Given the description of an element on the screen output the (x, y) to click on. 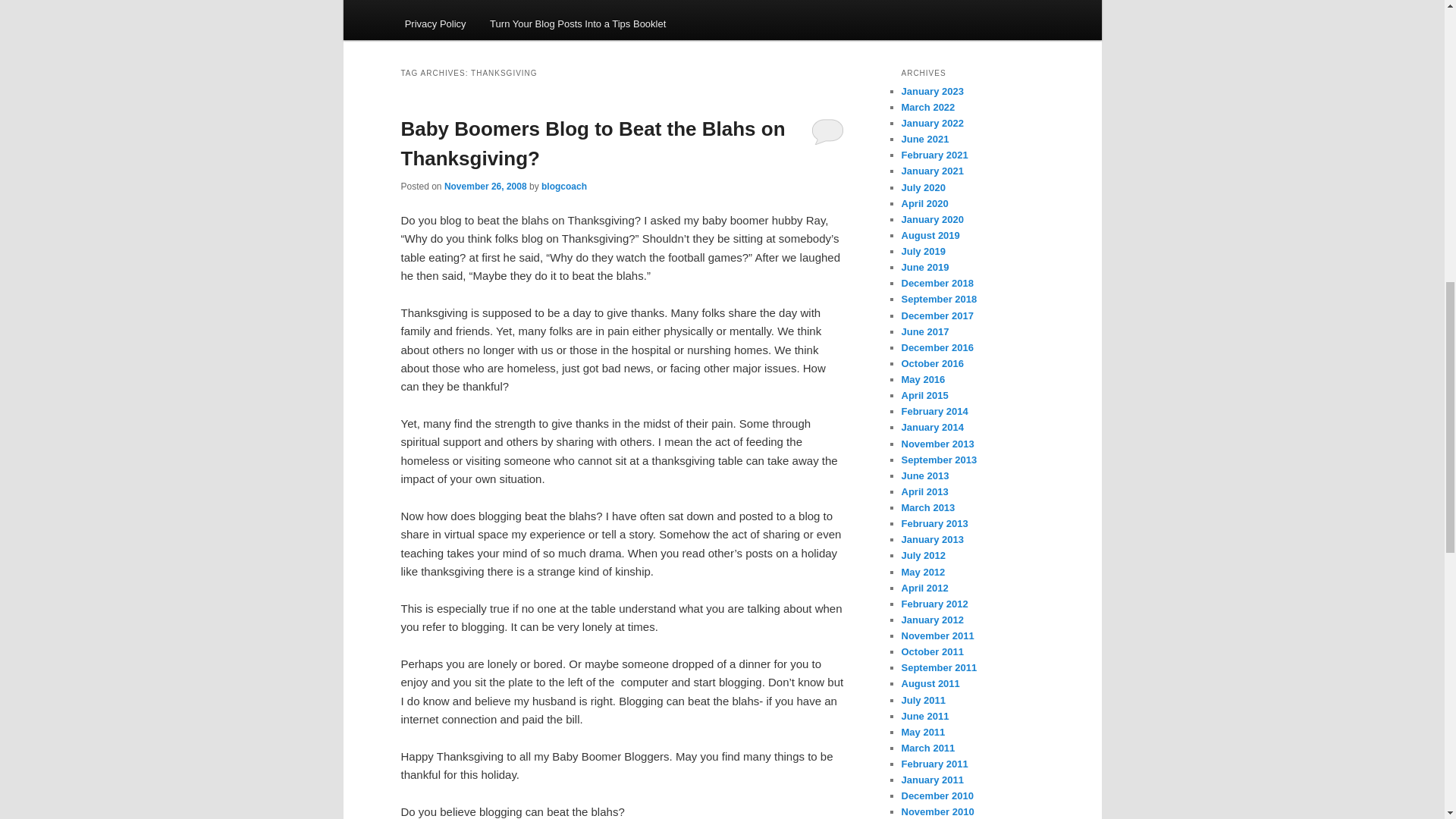
View all posts by blogcoach (563, 185)
November 26, 2008 (485, 185)
December 2018 (936, 283)
Buy Boomer Stuff (692, 3)
Boomer Blogging Resources (567, 3)
January 2021 (931, 170)
June 2017 (925, 331)
December 2017 (936, 315)
January 2023 (931, 91)
blogcoach (563, 185)
December 2016 (936, 347)
March 2022 (928, 107)
January 2022 (931, 122)
Privacy Policy (435, 23)
April 2020 (924, 203)
